Given the description of an element on the screen output the (x, y) to click on. 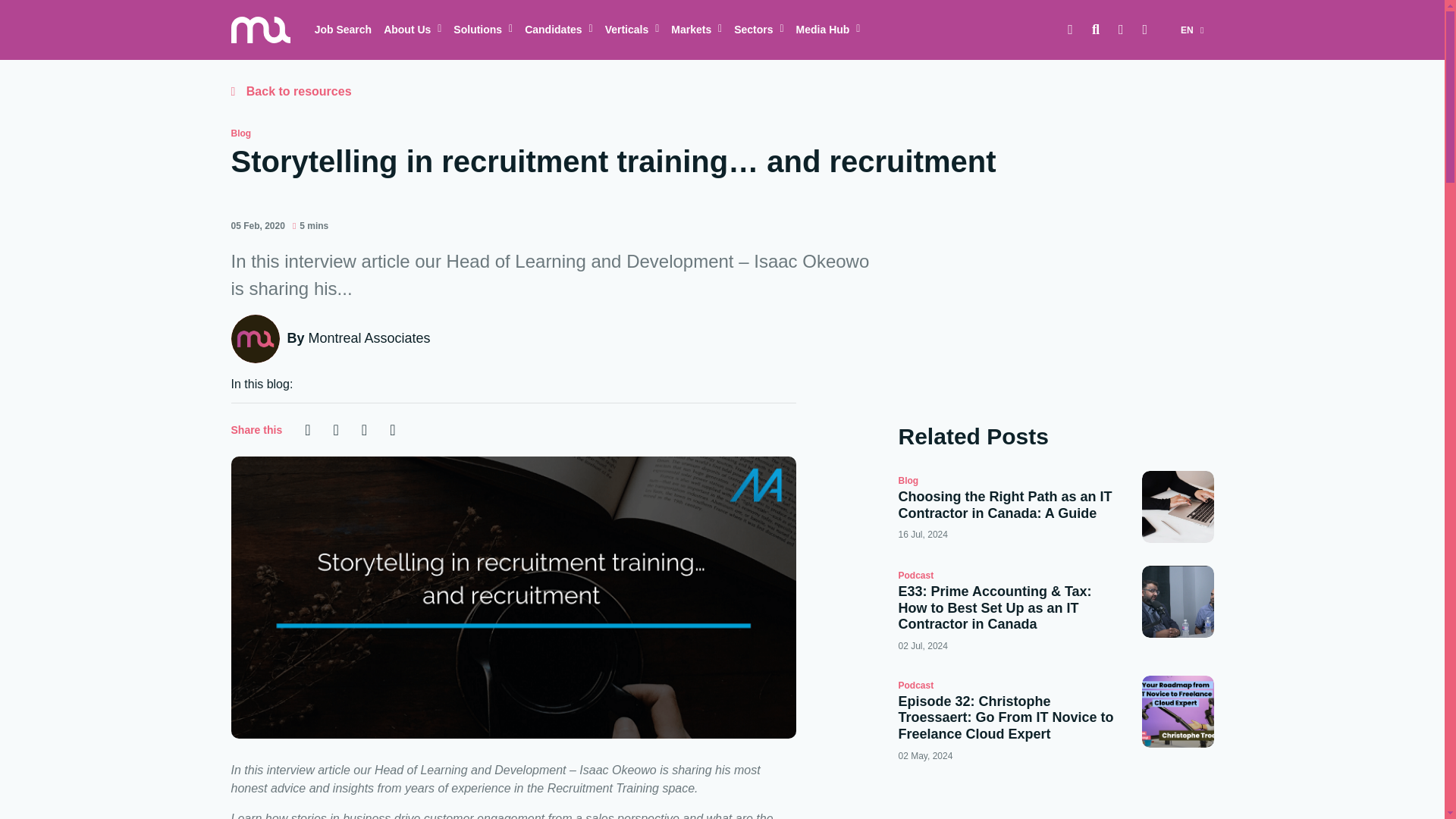
Markets (696, 29)
Solutions (482, 29)
Verticals (631, 29)
Candidates (558, 29)
About Us (411, 29)
Job Search (342, 29)
